Given the description of an element on the screen output the (x, y) to click on. 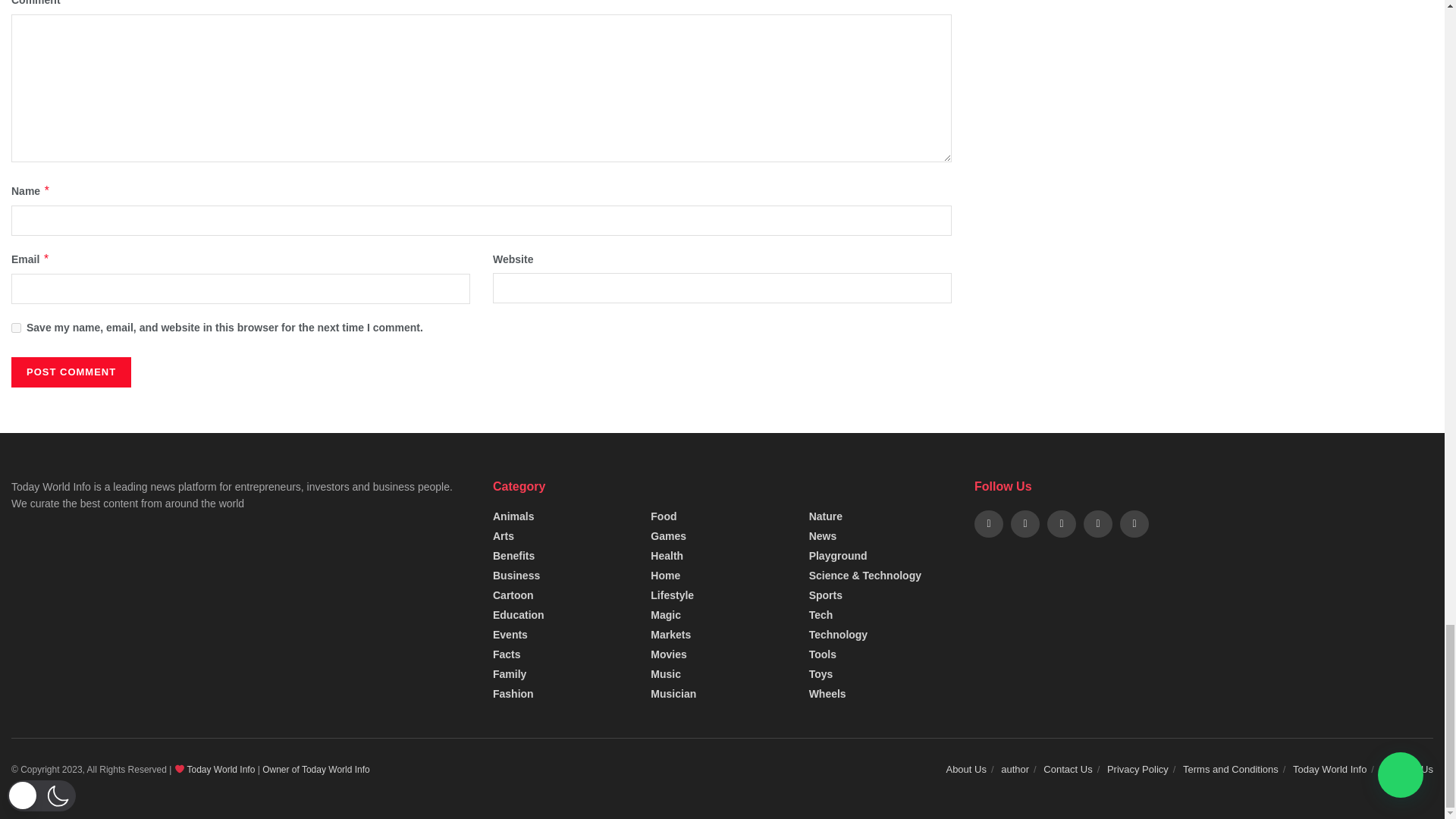
Post Comment (71, 372)
yes (16, 327)
